Given the description of an element on the screen output the (x, y) to click on. 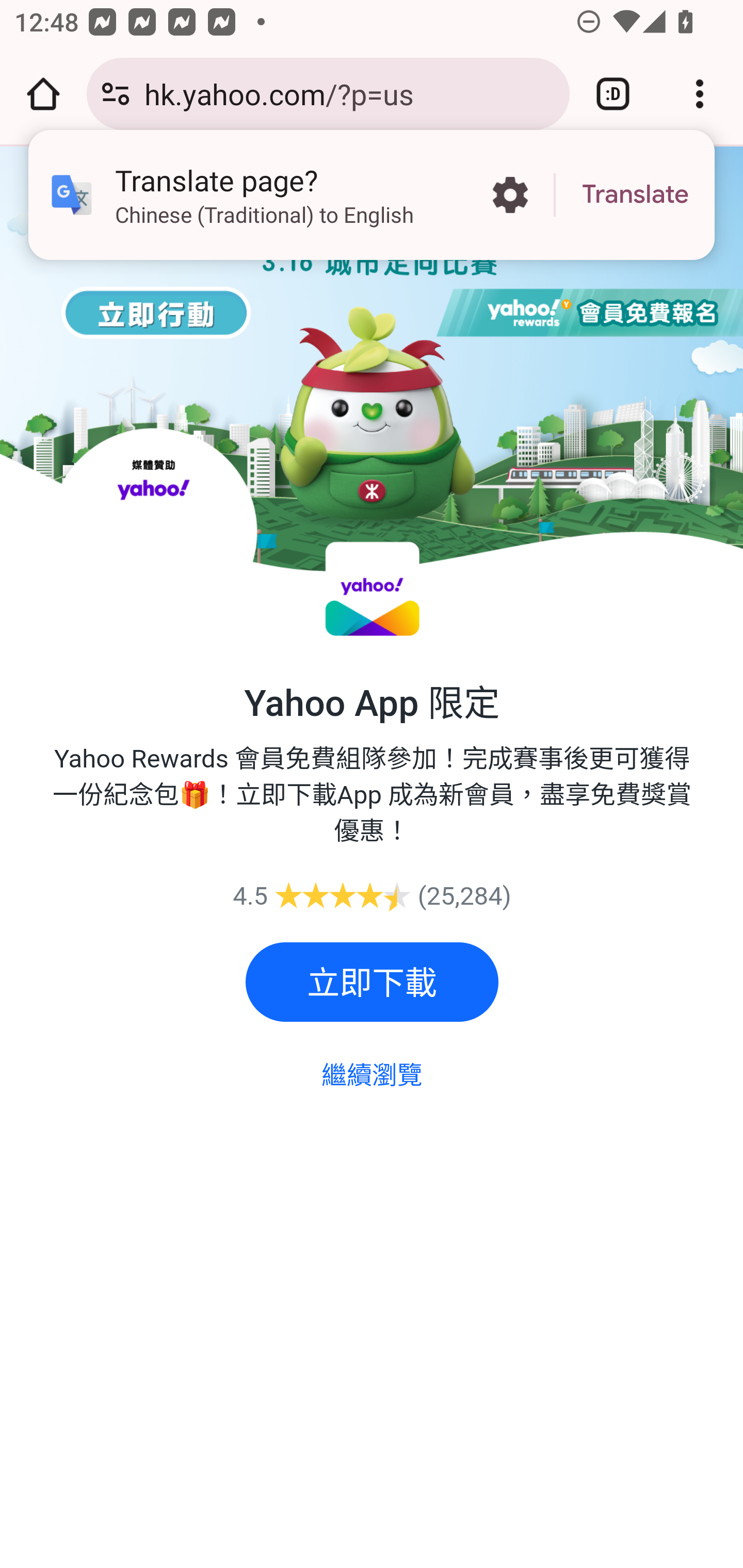
Open the home page (43, 93)
Connection is secure (115, 93)
Switch or close tabs (612, 93)
Customize and control Google Chrome (699, 93)
hk.yahoo.com/?p=us (349, 92)
Translate (634, 195)
